Given the description of an element on the screen output the (x, y) to click on. 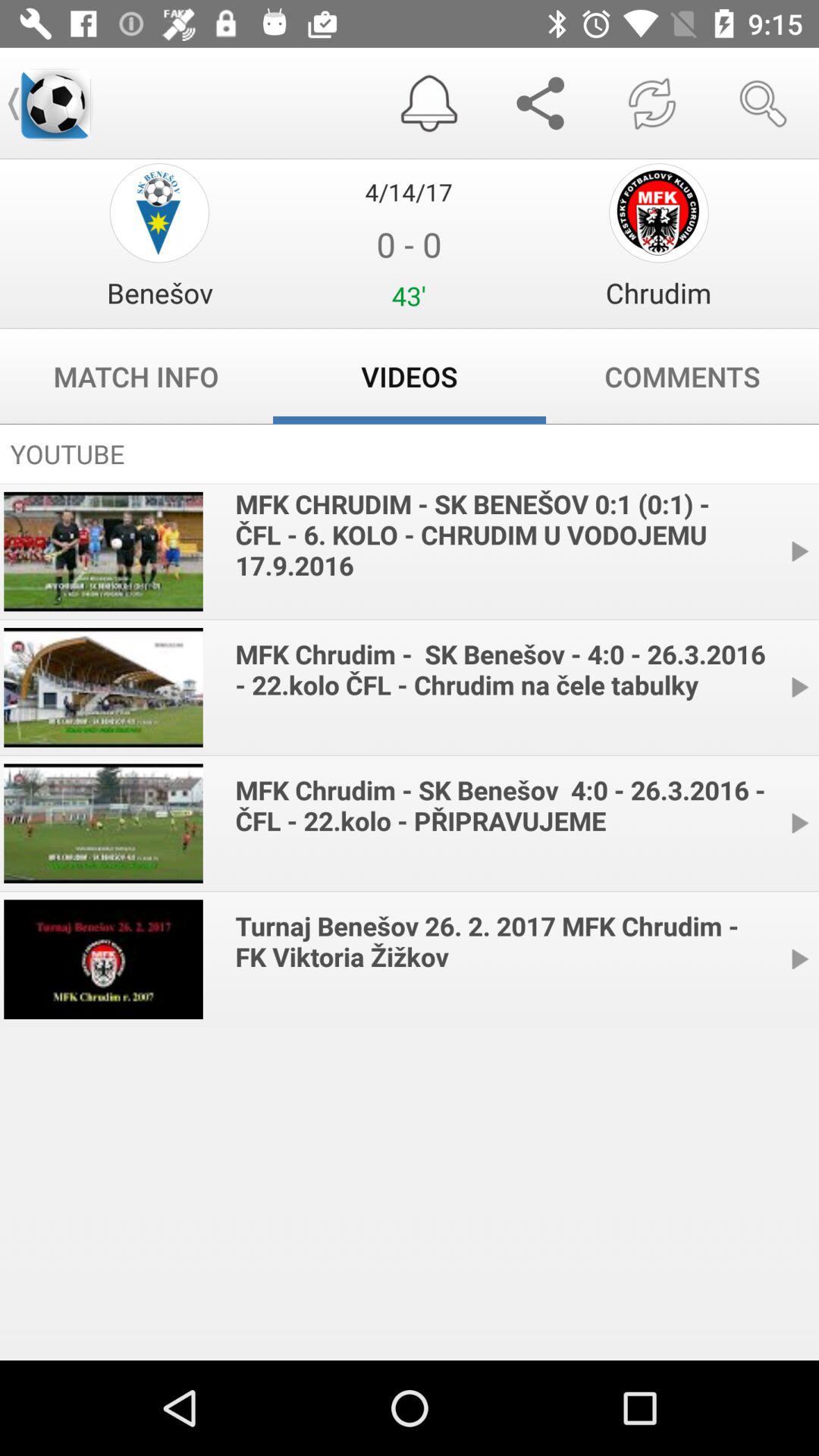
chrudim (658, 212)
